Given the description of an element on the screen output the (x, y) to click on. 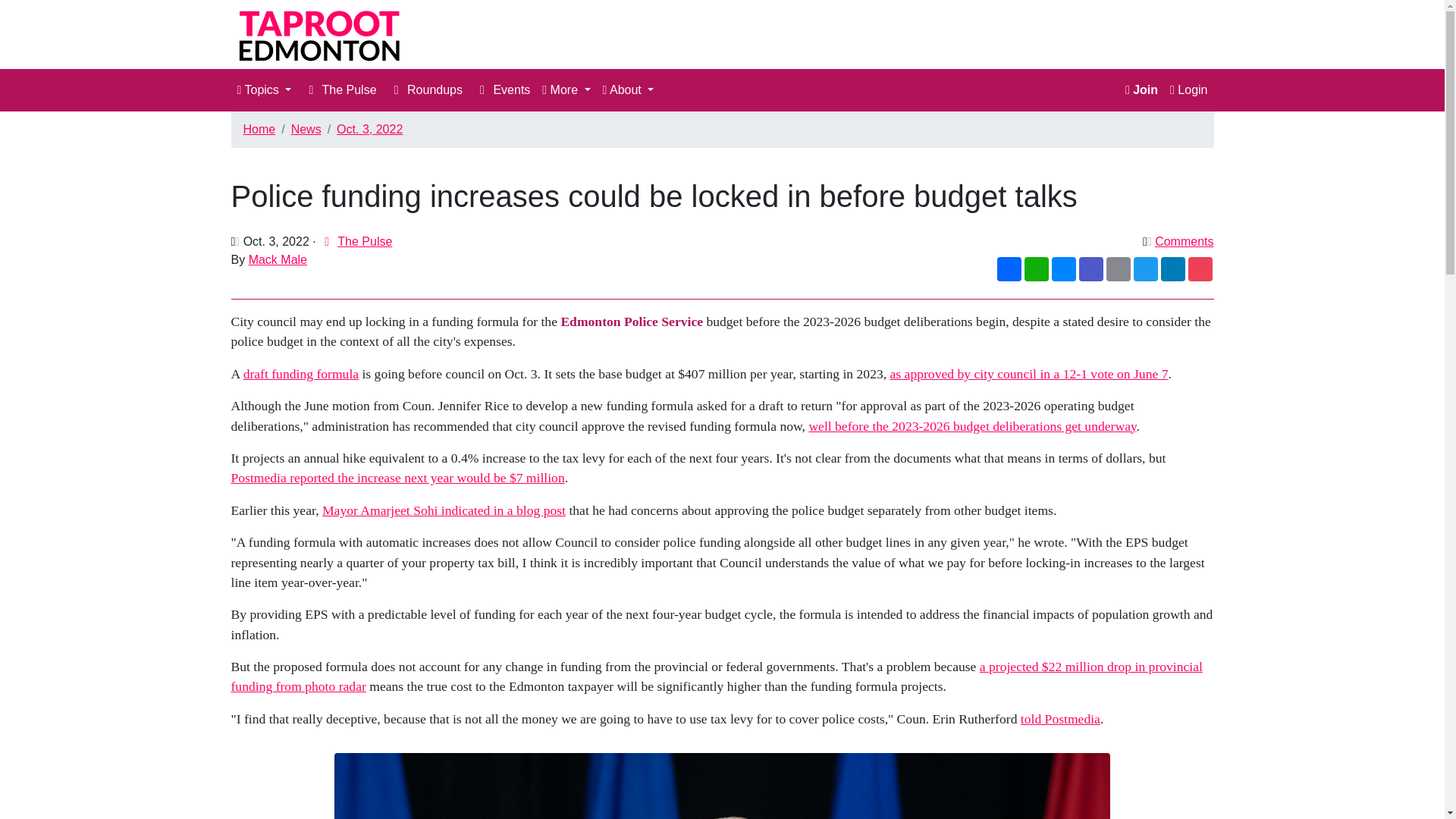
About (628, 90)
Taproot Edmonton (324, 34)
The Pulse (364, 241)
Events (501, 90)
Home (259, 128)
Comments (1183, 241)
The Pulse (339, 90)
Login (1187, 90)
Oct. 3, 2022 (369, 128)
Topics (263, 90)
